Given the description of an element on the screen output the (x, y) to click on. 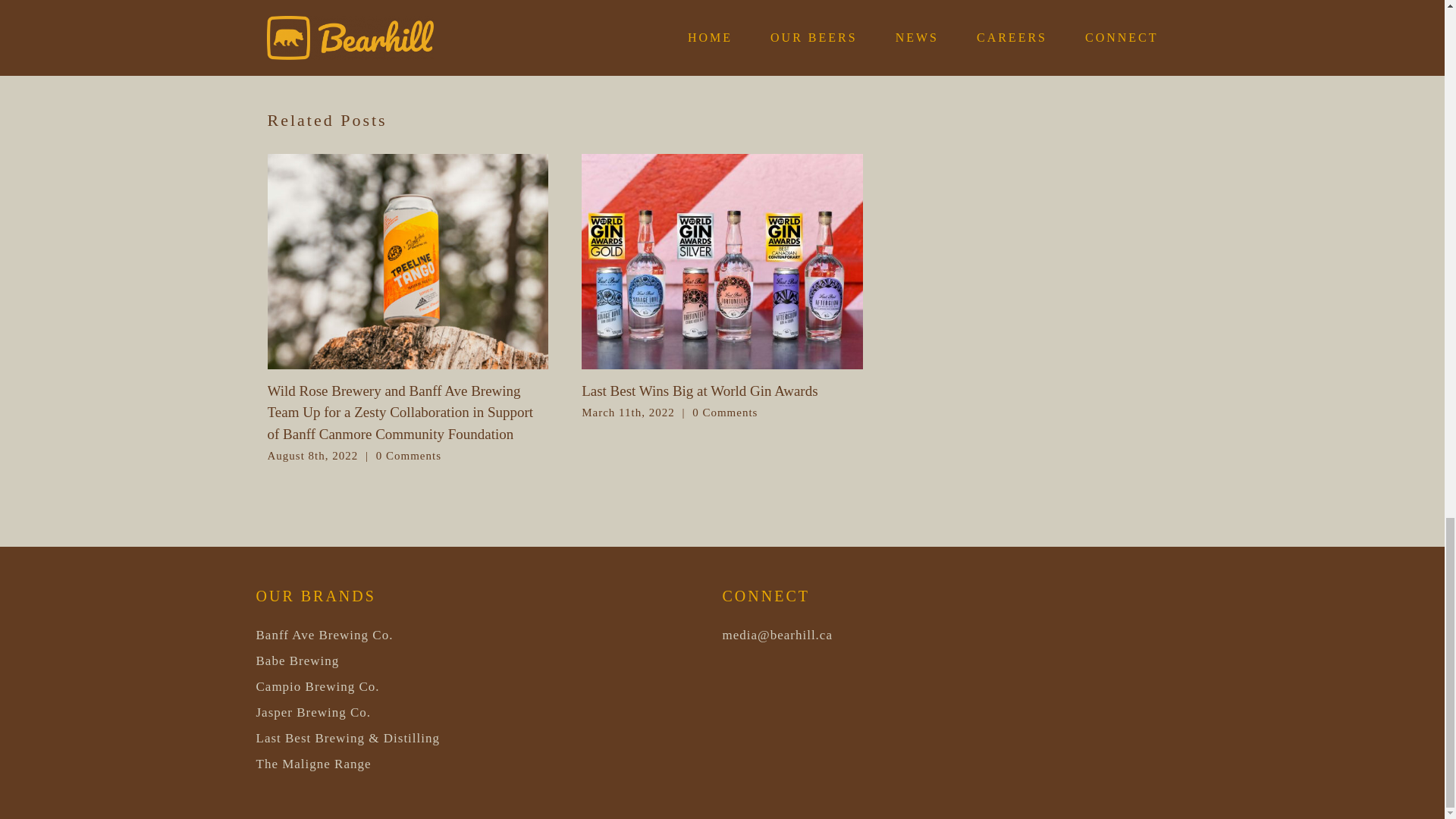
Last Best Wins Big at World Gin Awards (698, 390)
Jasper Brewing Co. (313, 712)
Campio Brewing Co. (318, 686)
Last Best Wins Big at World Gin Awards (698, 390)
0 Comments (408, 455)
0 Comments (725, 412)
Babe Brewing (297, 660)
The Maligne Range (313, 763)
Banff Ave Brewing Co. (324, 635)
